Given the description of an element on the screen output the (x, y) to click on. 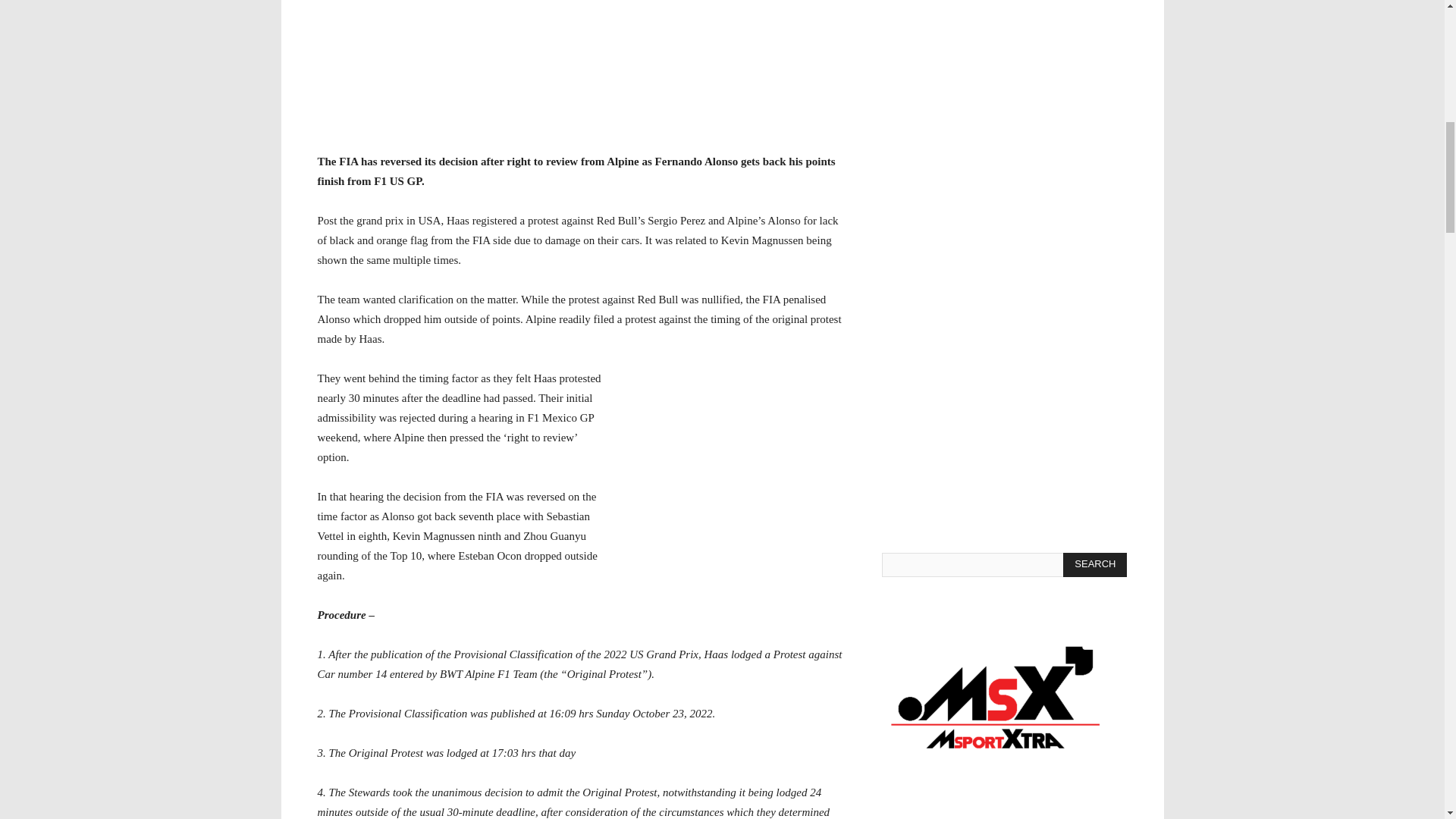
Search (1094, 564)
